Given the description of an element on the screen output the (x, y) to click on. 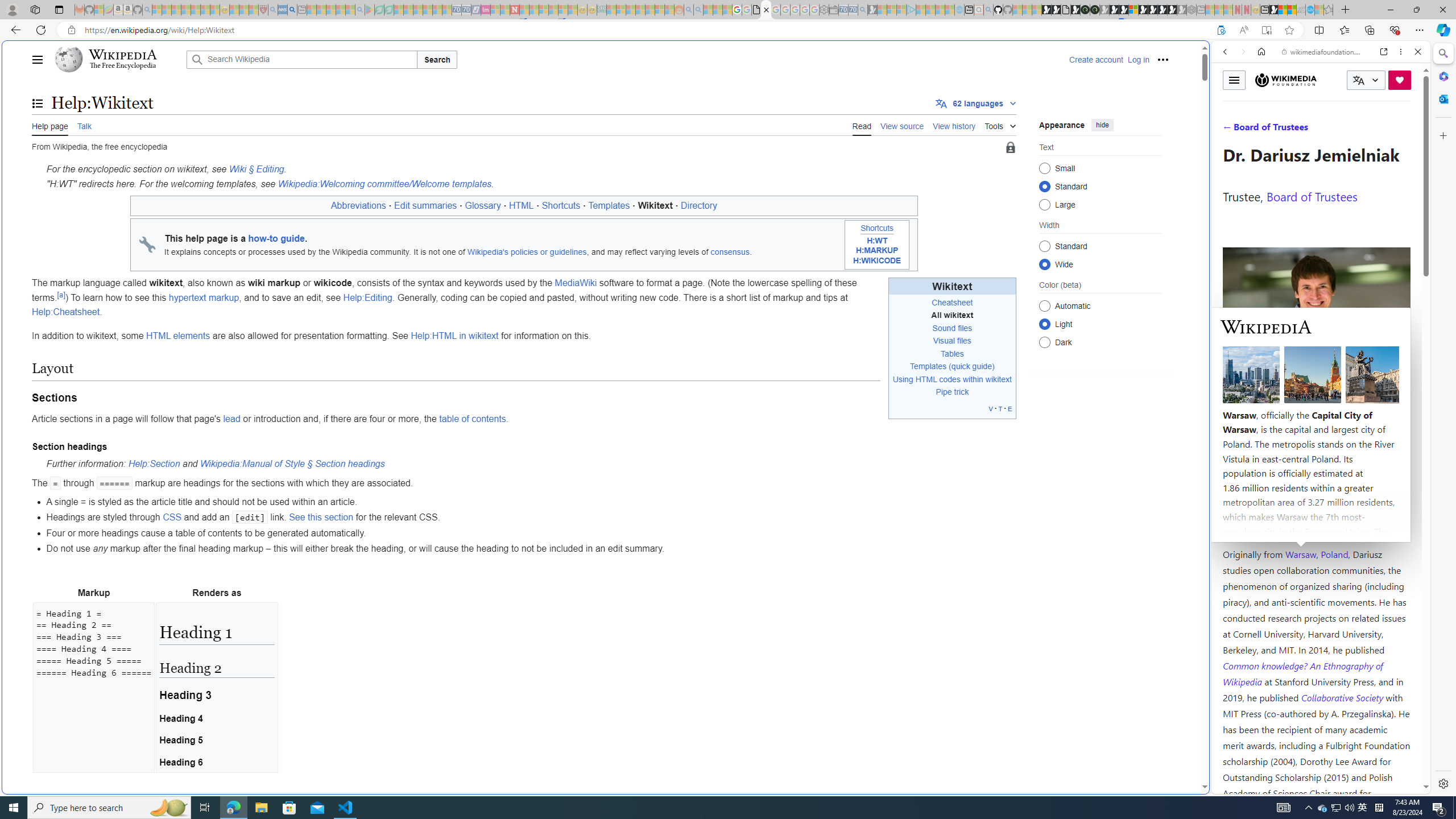
Preferences (1403, 129)
Settings - Sleeping (823, 9)
Play Zoo Boom in your browser | Games from Microsoft Start (1055, 9)
Markup (94, 592)
Microsoft Start - Sleeping (939, 9)
VIDEOS (1300, 130)
Future Focus Report 2024 (1094, 9)
Help:Editing (368, 297)
